Given the description of an element on the screen output the (x, y) to click on. 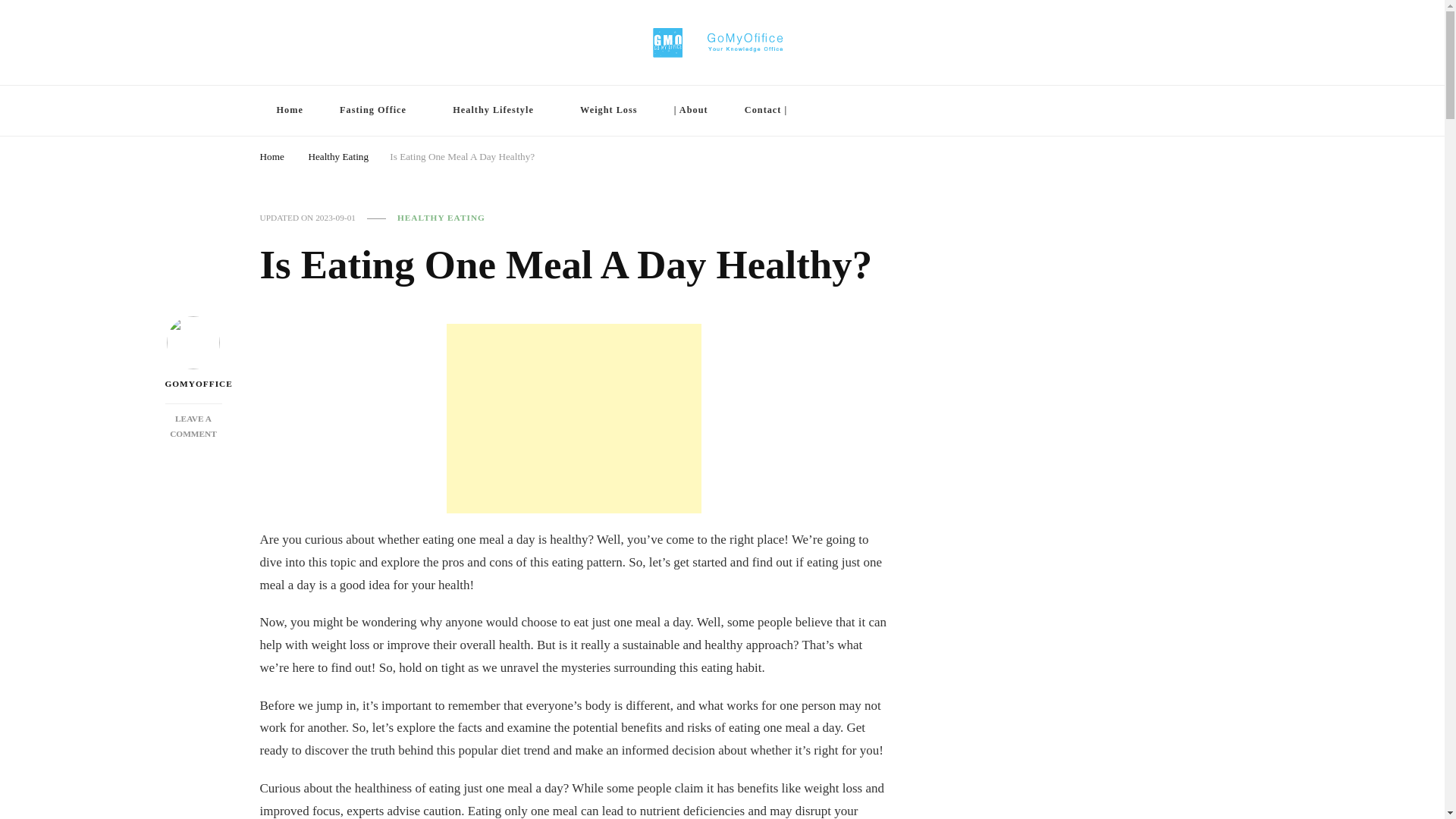
Healthy Eating (337, 154)
Fasting Office (377, 110)
Weight Loss (608, 110)
HEALTHY EATING (440, 217)
Is Eating One Meal A Day Healthy? (462, 154)
2023-09-01 (335, 217)
Search (1148, 112)
Home (271, 154)
Healthy Lifestyle (193, 426)
